Given the description of an element on the screen output the (x, y) to click on. 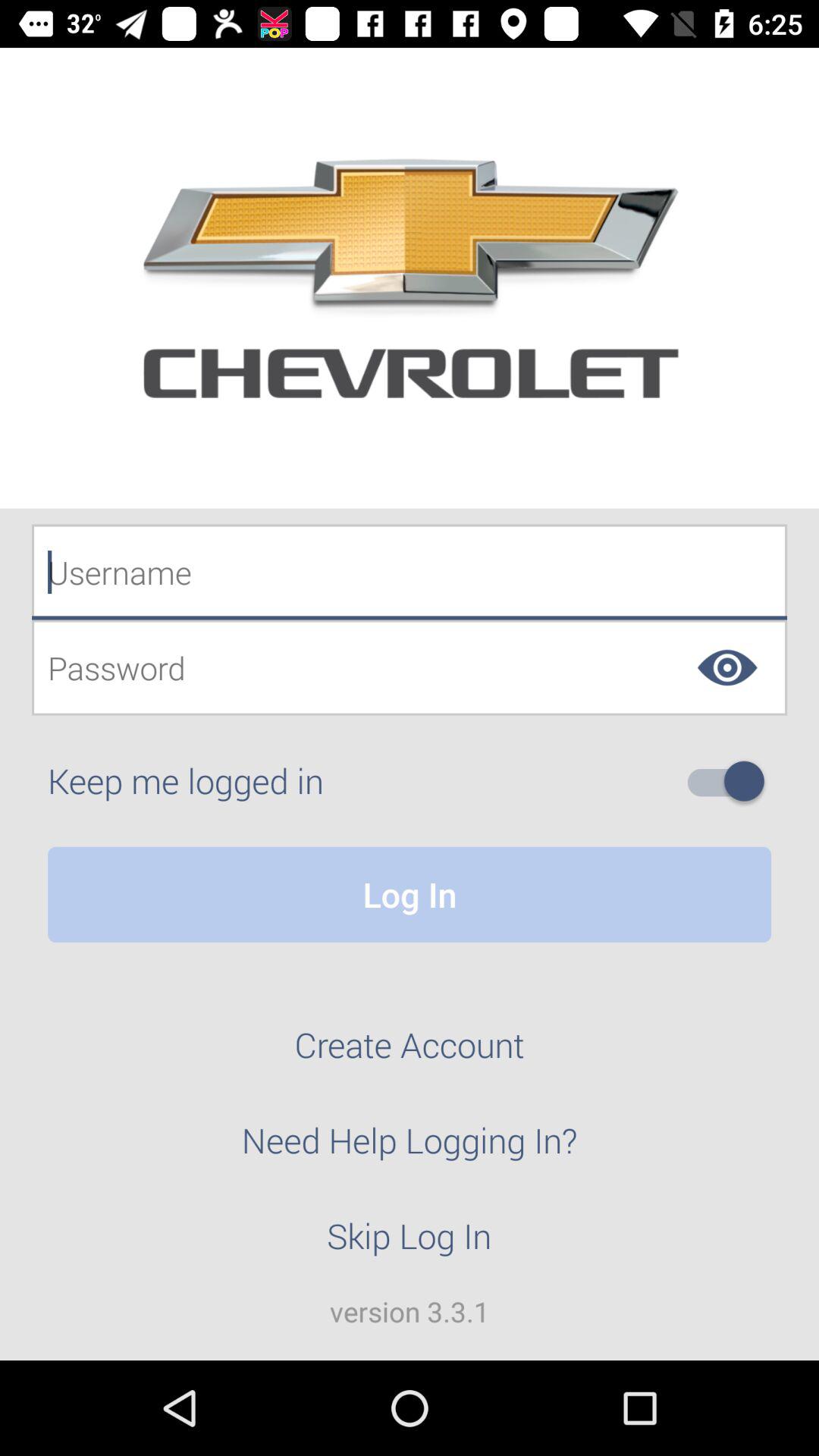
select the item next to keep me logged item (731, 781)
